Given the description of an element on the screen output the (x, y) to click on. 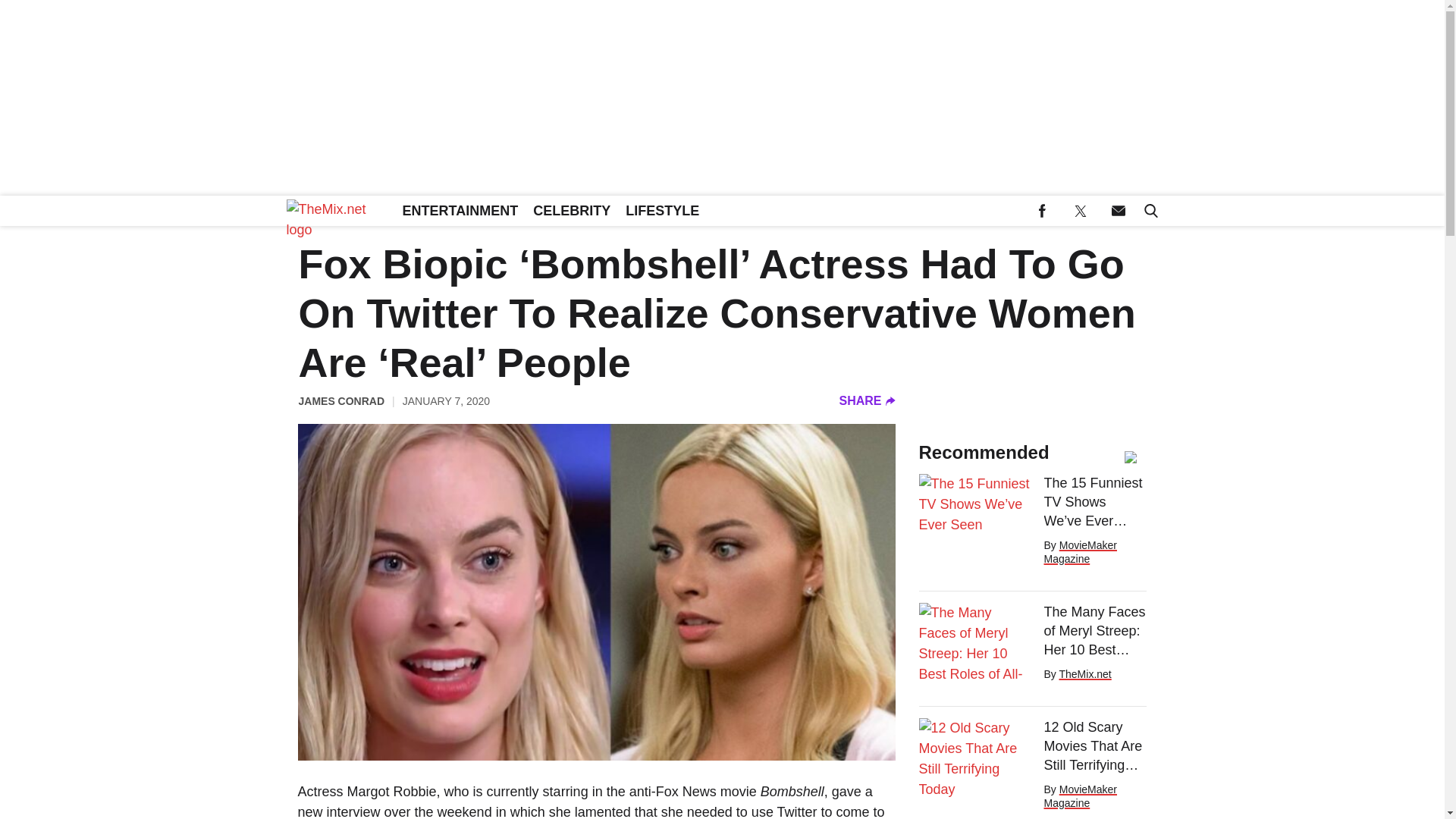
JAMES CONRAD (341, 400)
12 Old Scary Movies That Are Still Terrifying Today (1094, 746)
ENTERTAINMENT (459, 210)
Follow us on Facebook (1042, 210)
Follow us on Twitter (1080, 210)
Posts by James Conrad (341, 400)
TheMix.net (1084, 674)
CELEBRITY (571, 210)
LIFESTYLE (661, 210)
MovieMaker Magazine (1079, 795)
Send us an email (1118, 210)
MovieMaker Magazine (1079, 551)
